Given the description of an element on the screen output the (x, y) to click on. 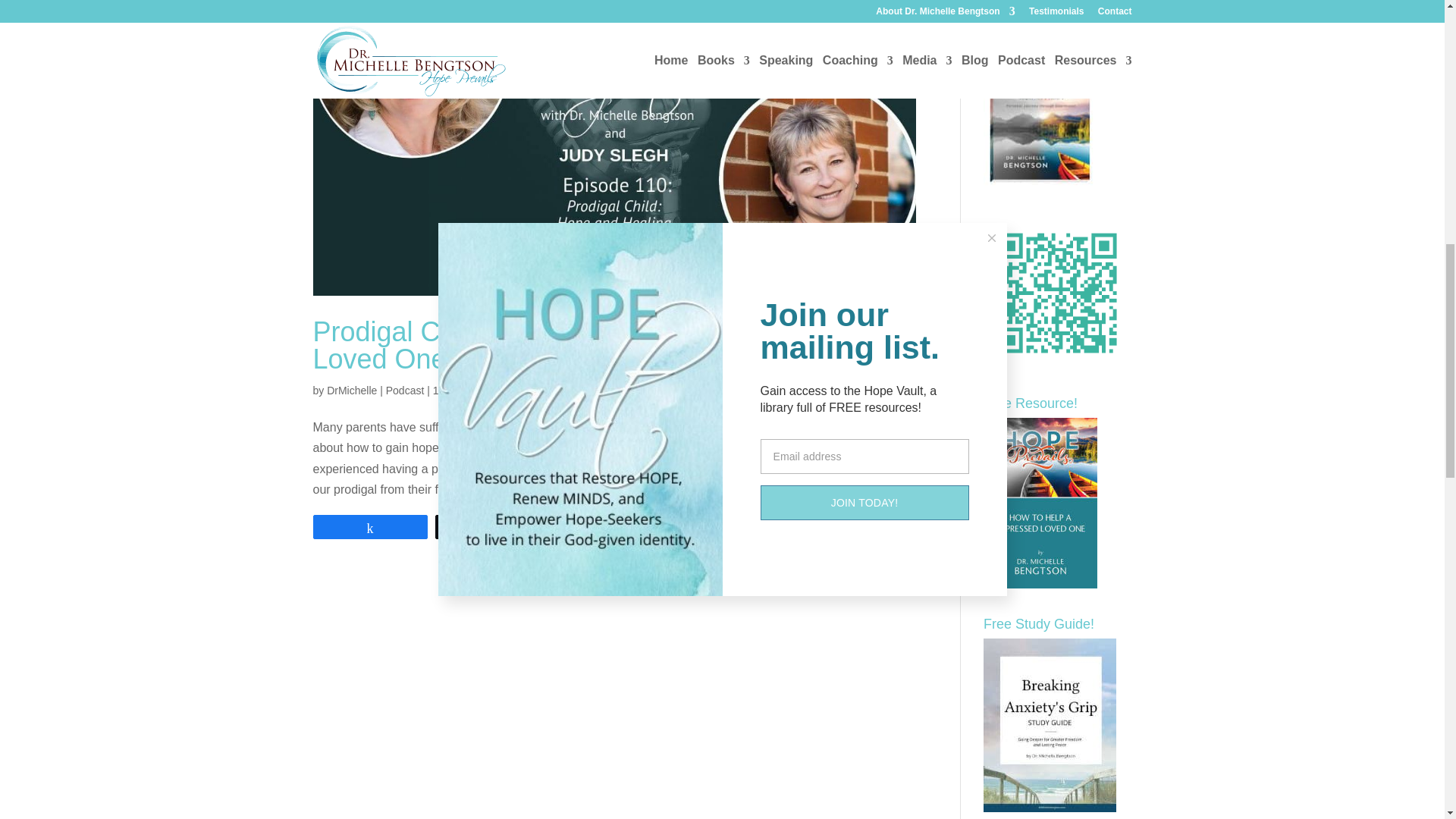
Posts by DrMichelle (351, 390)
